Given the description of an element on the screen output the (x, y) to click on. 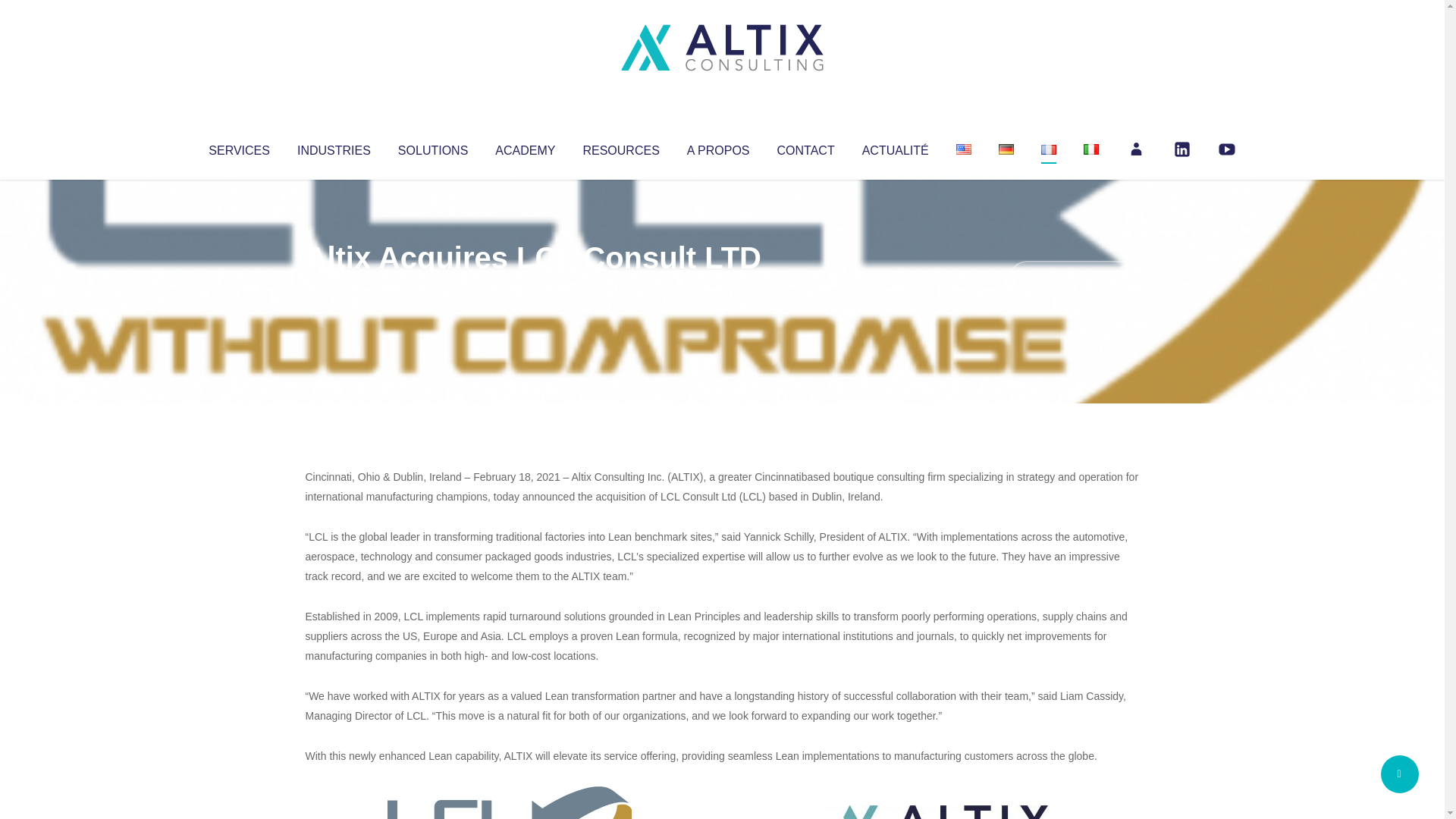
Articles par Altix (333, 287)
SERVICES (238, 146)
RESOURCES (620, 146)
INDUSTRIES (334, 146)
No Comments (1073, 278)
Uncategorized (530, 287)
Altix (333, 287)
A PROPOS (718, 146)
SOLUTIONS (432, 146)
ACADEMY (524, 146)
